Given the description of an element on the screen output the (x, y) to click on. 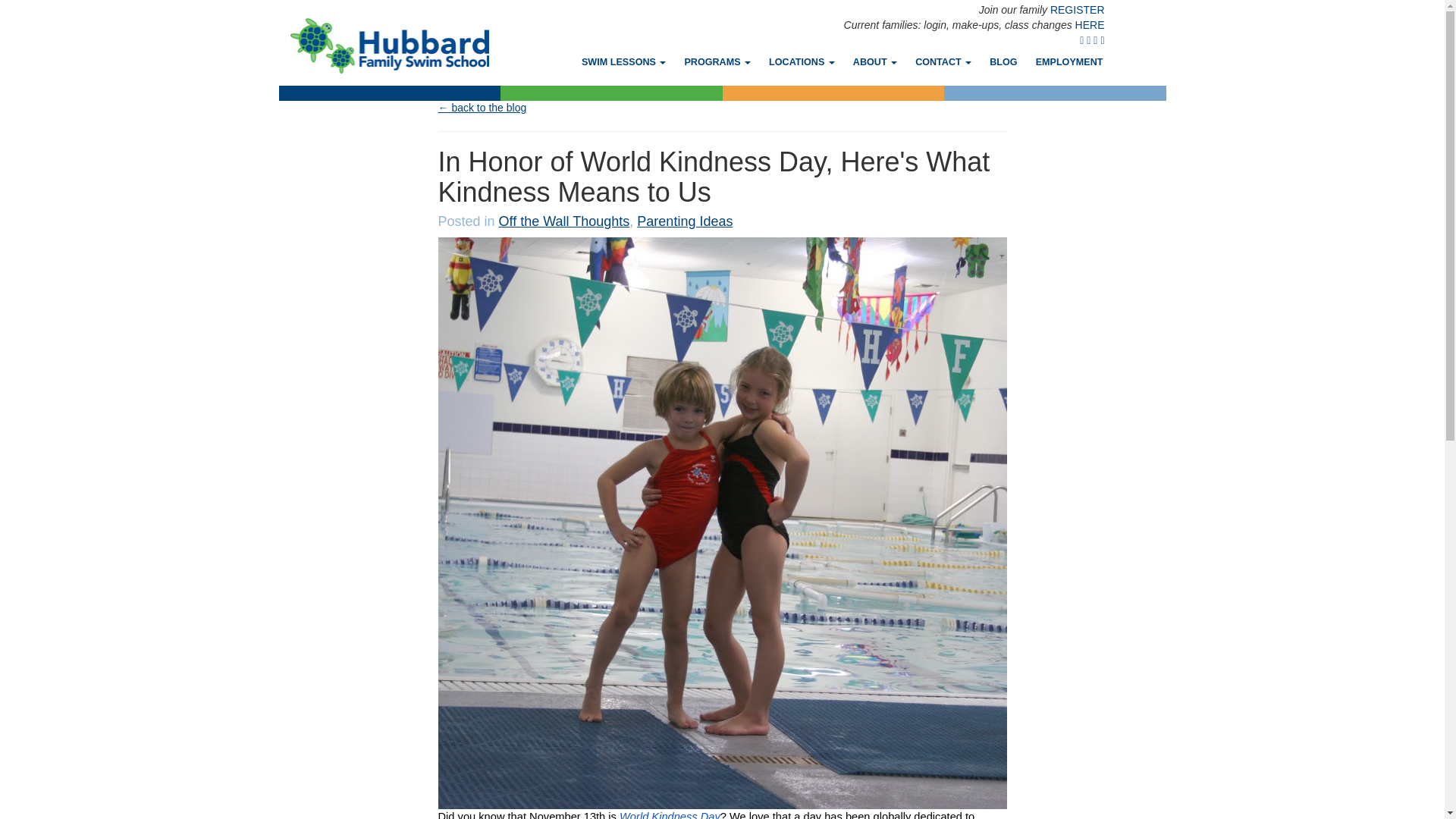
REGISTER (1077, 9)
EMPLOYMENT (1069, 61)
BLOG (1003, 61)
HERE (1090, 24)
